Given the description of an element on the screen output the (x, y) to click on. 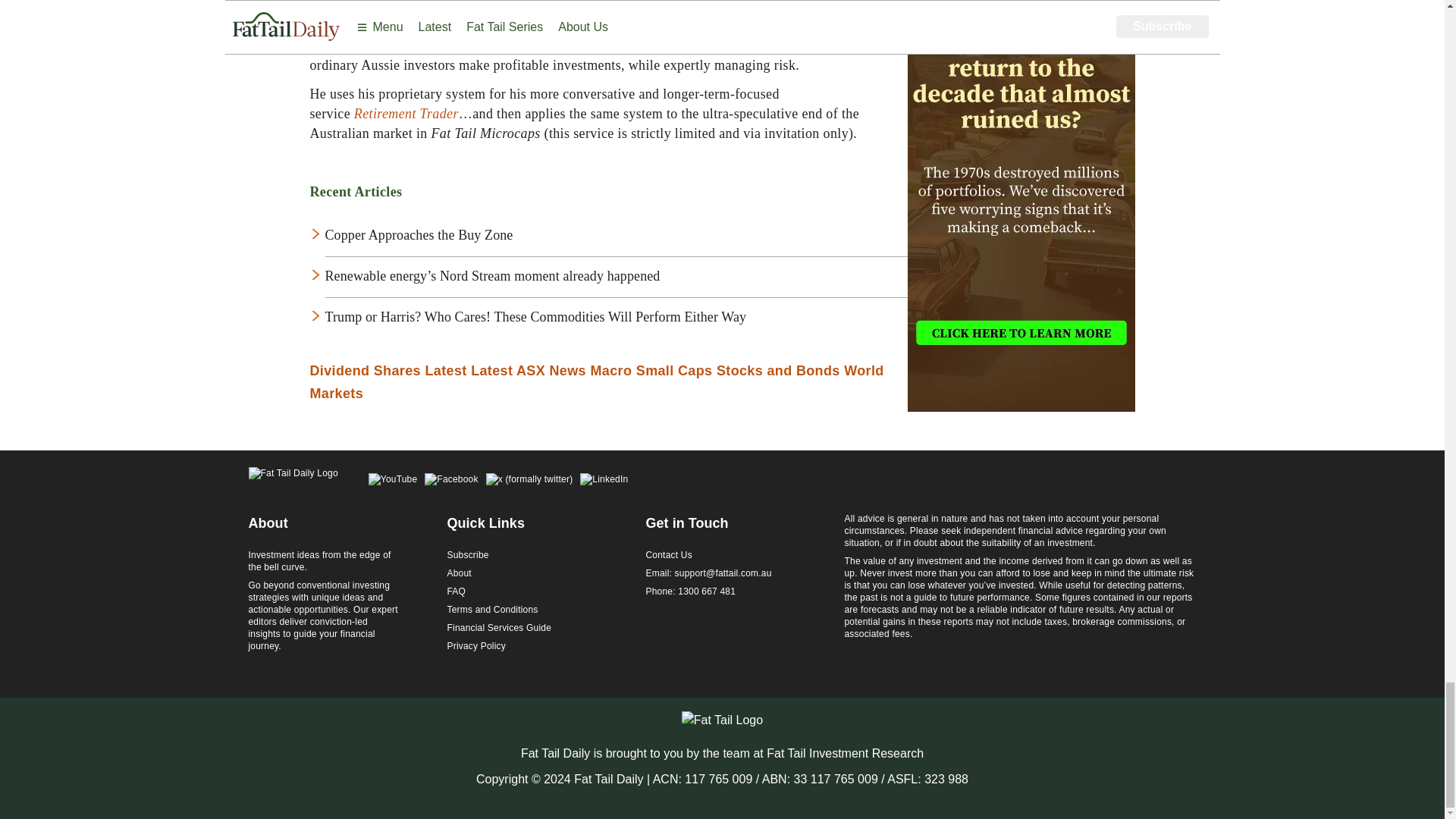
Fat Tail Daily Home (292, 480)
